Given the description of an element on the screen output the (x, y) to click on. 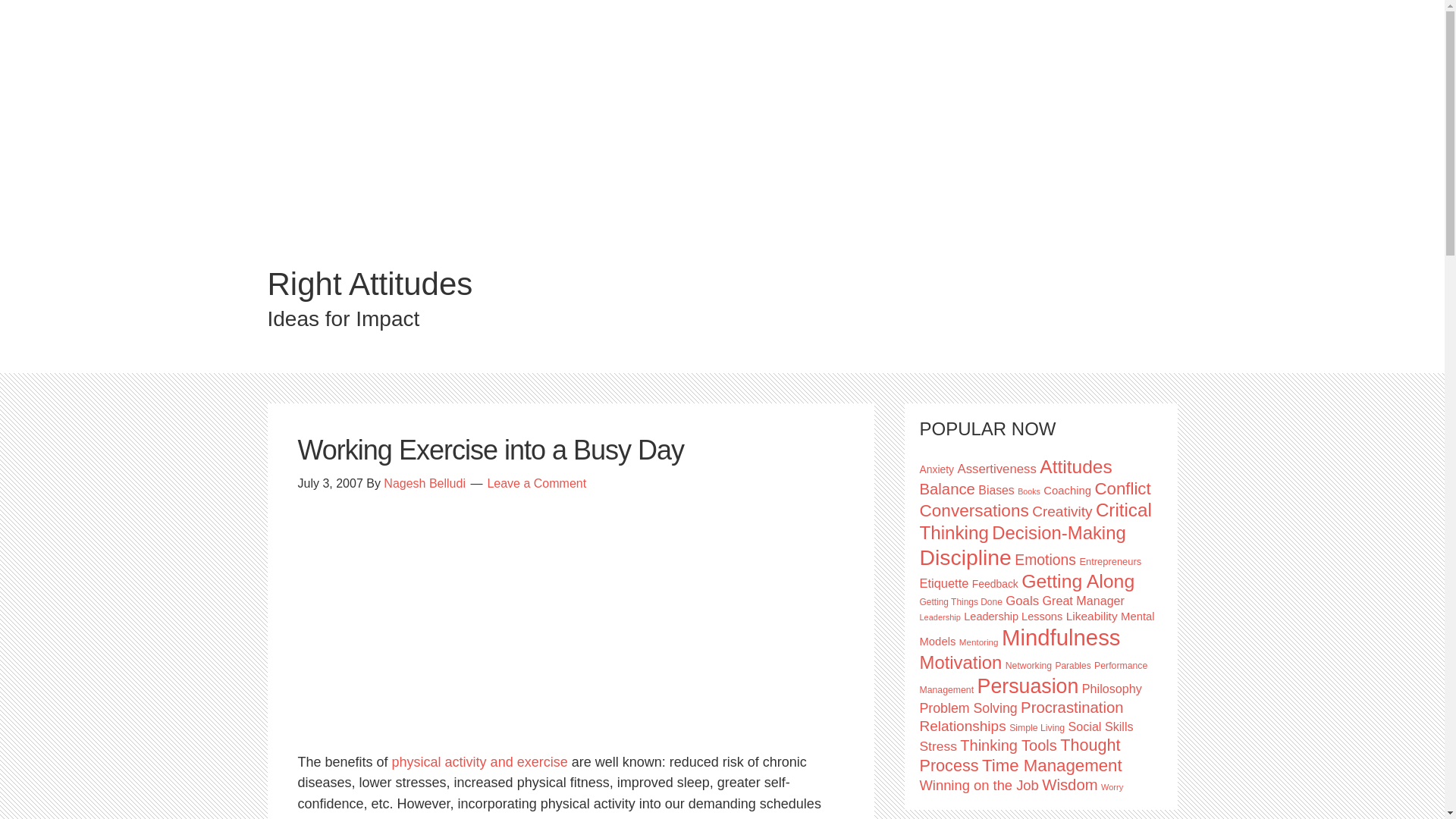
physical activity and exercise (479, 761)
Attitudes (1075, 466)
Feedback (994, 583)
'Ways to Work Exercise Into a Busy Day,' Wall Street Journal (479, 761)
Discipline (964, 557)
Assertiveness (995, 468)
Biases (995, 490)
Getting Along (1078, 580)
Right Attitudes (368, 284)
